Given the description of an element on the screen output the (x, y) to click on. 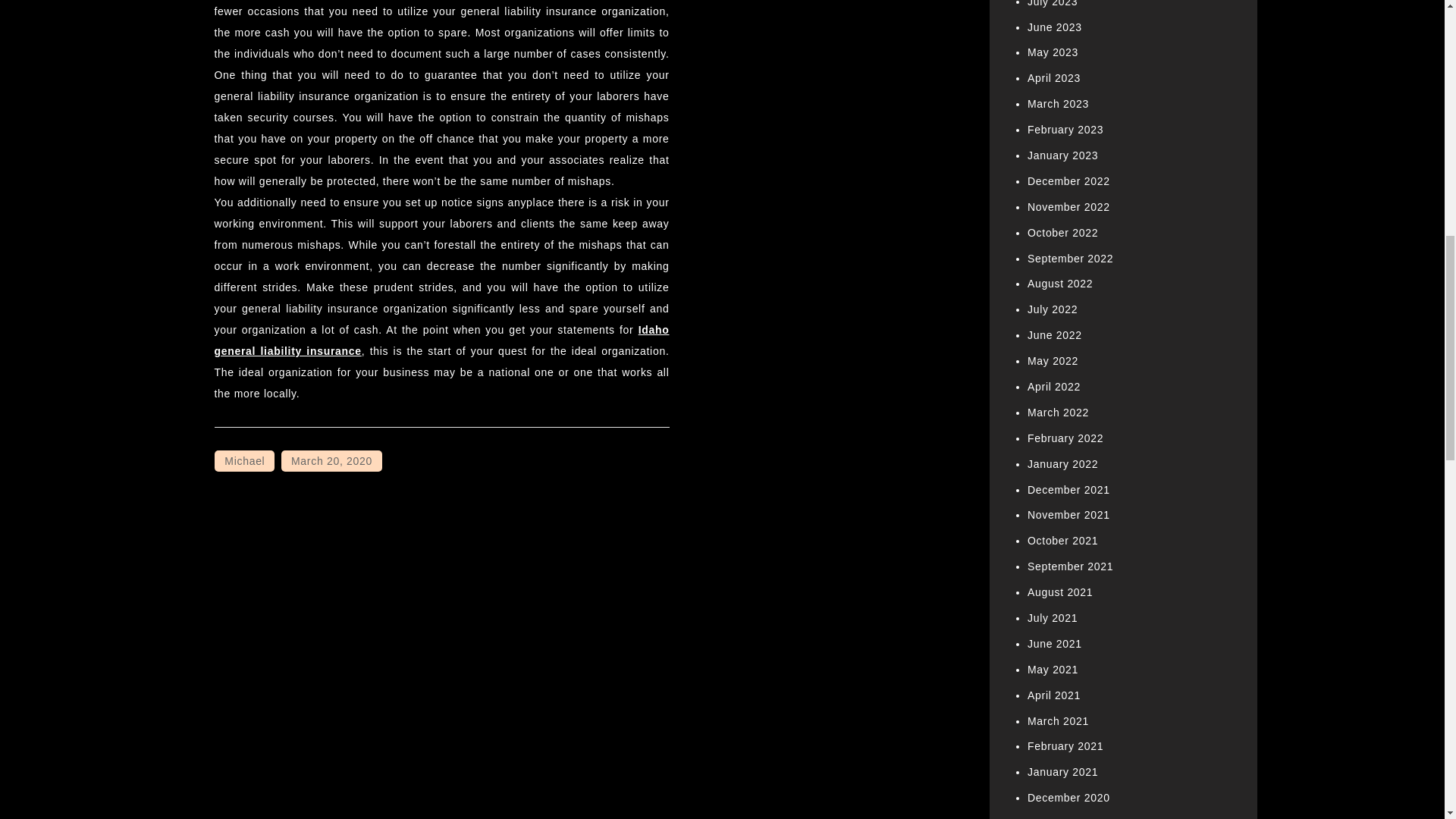
March 2023 (1058, 103)
May 2022 (1052, 360)
December 2022 (1068, 181)
August 2022 (1060, 283)
January 2023 (1062, 155)
July 2023 (1052, 3)
April 2022 (1053, 386)
September 2022 (1070, 258)
July 2022 (1052, 309)
June 2022 (1054, 335)
